Given the description of an element on the screen output the (x, y) to click on. 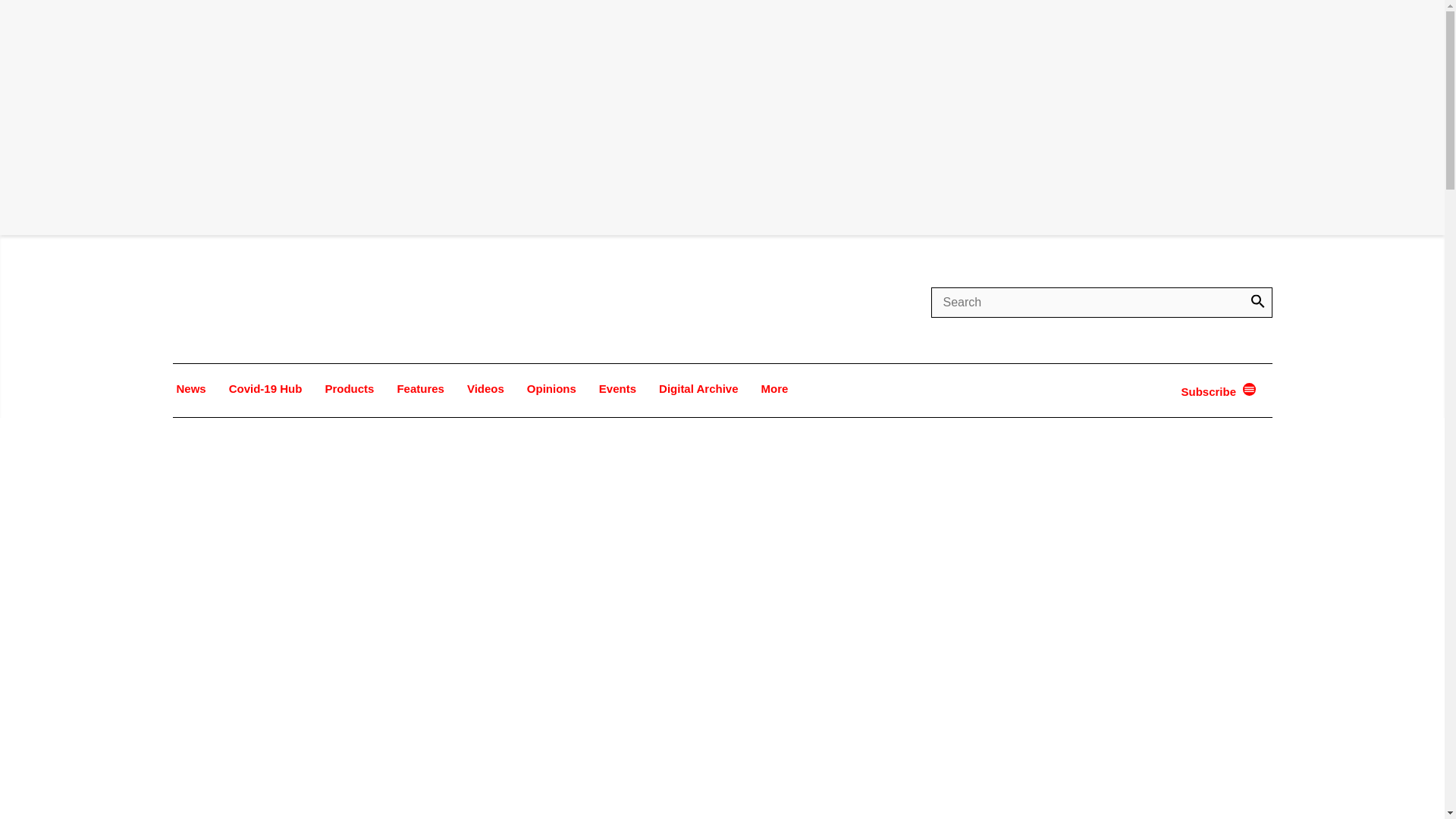
Videos (485, 388)
Events (617, 388)
Covid-19 Hub (265, 388)
Subscribe (1210, 391)
More (774, 388)
Features (420, 388)
Digital Archive (698, 388)
Opinions (550, 388)
News (191, 388)
